Given the description of an element on the screen output the (x, y) to click on. 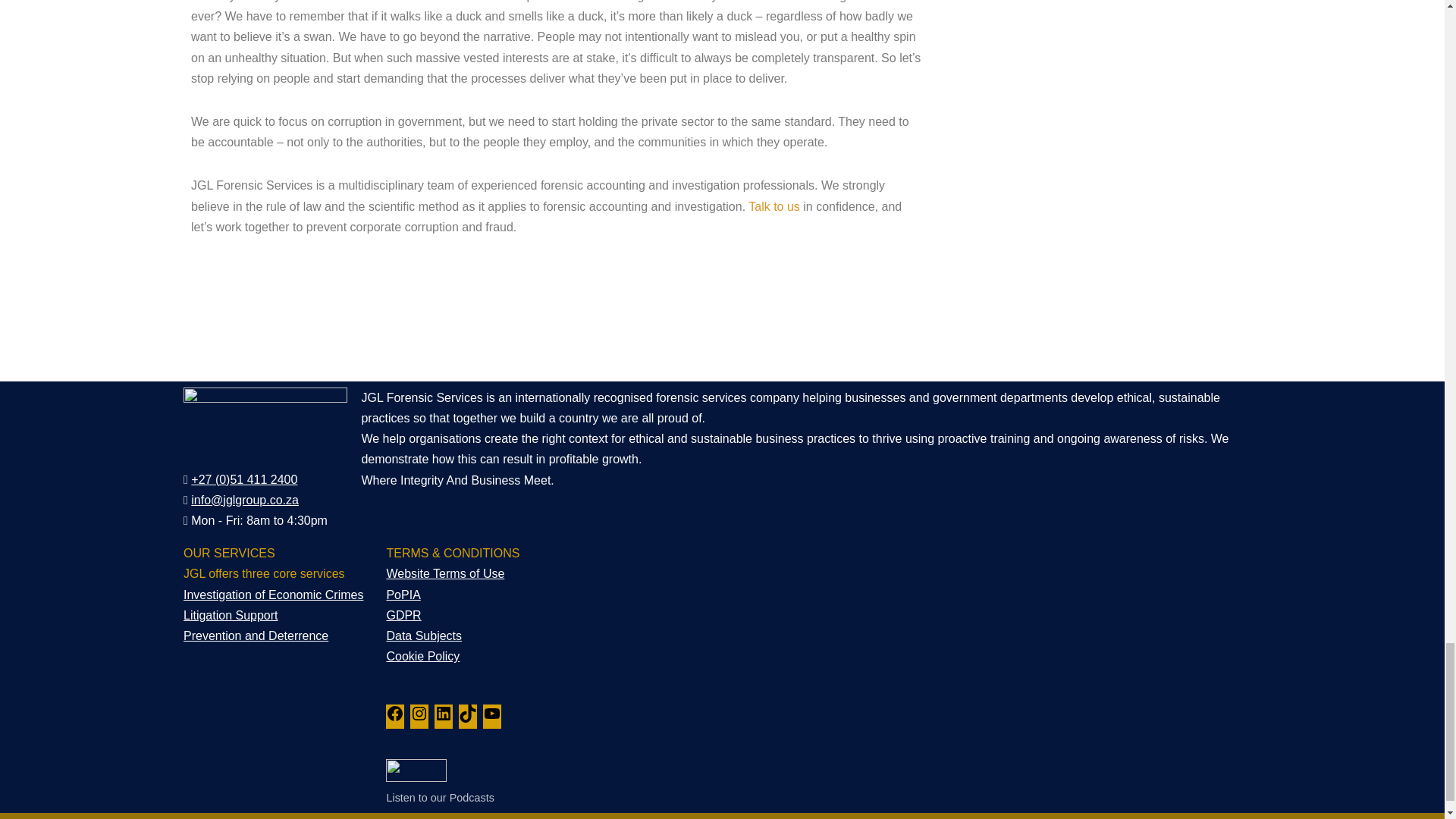
Prevention and Deterrence (256, 635)
GDPR (402, 615)
PoPIA (402, 594)
Data Subjects (423, 635)
Cookie Policy (422, 656)
Litigation Support (230, 615)
Website Terms of Use (444, 573)
Talk to us (773, 205)
Investigation of Economic Crimes (272, 594)
